Given the description of an element on the screen output the (x, y) to click on. 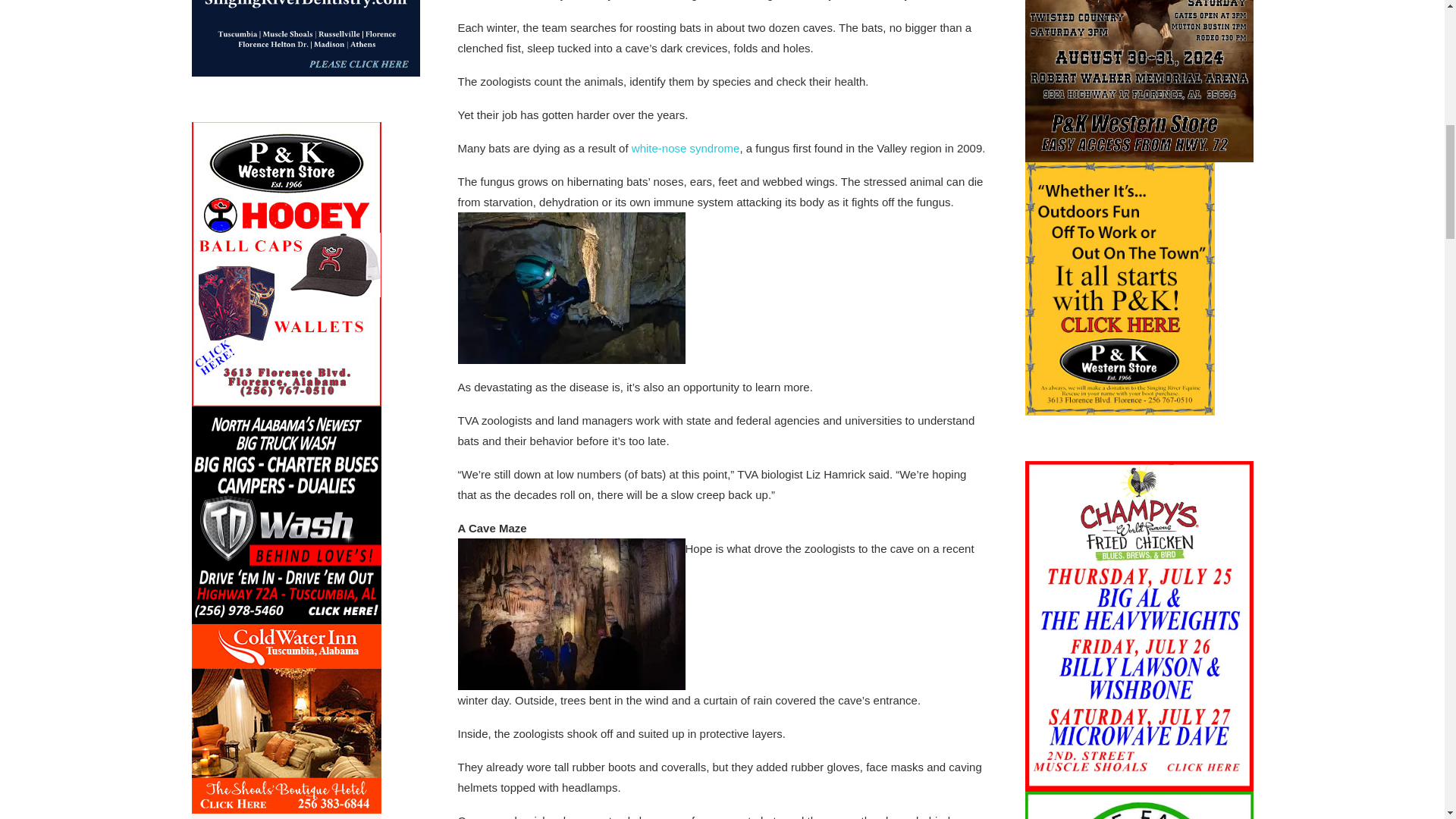
white-nose syndrome (685, 147)
